Given the description of an element on the screen output the (x, y) to click on. 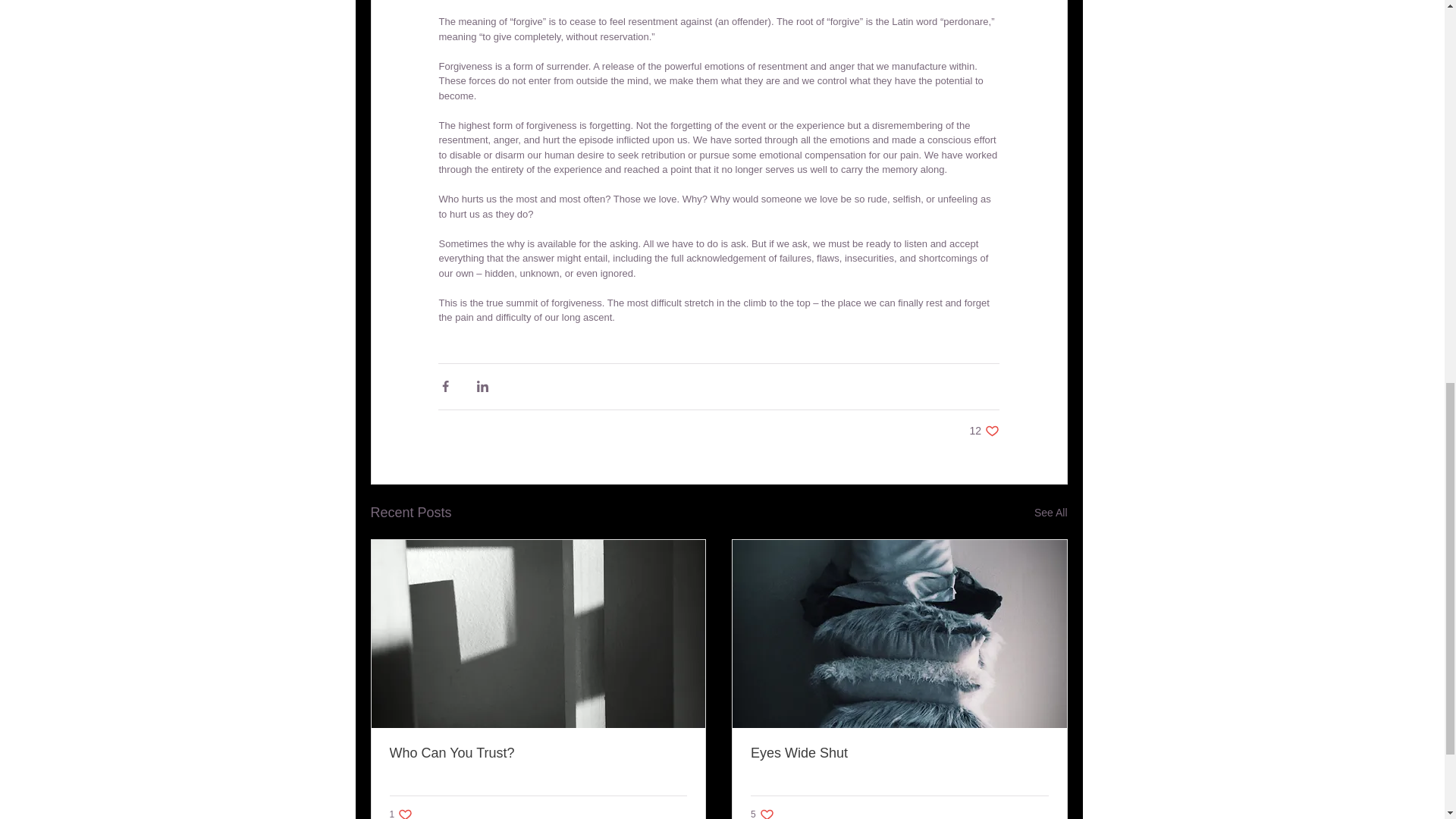
Who Can You Trust? (538, 753)
Eyes Wide Shut (983, 430)
See All (401, 813)
